Given the description of an element on the screen output the (x, y) to click on. 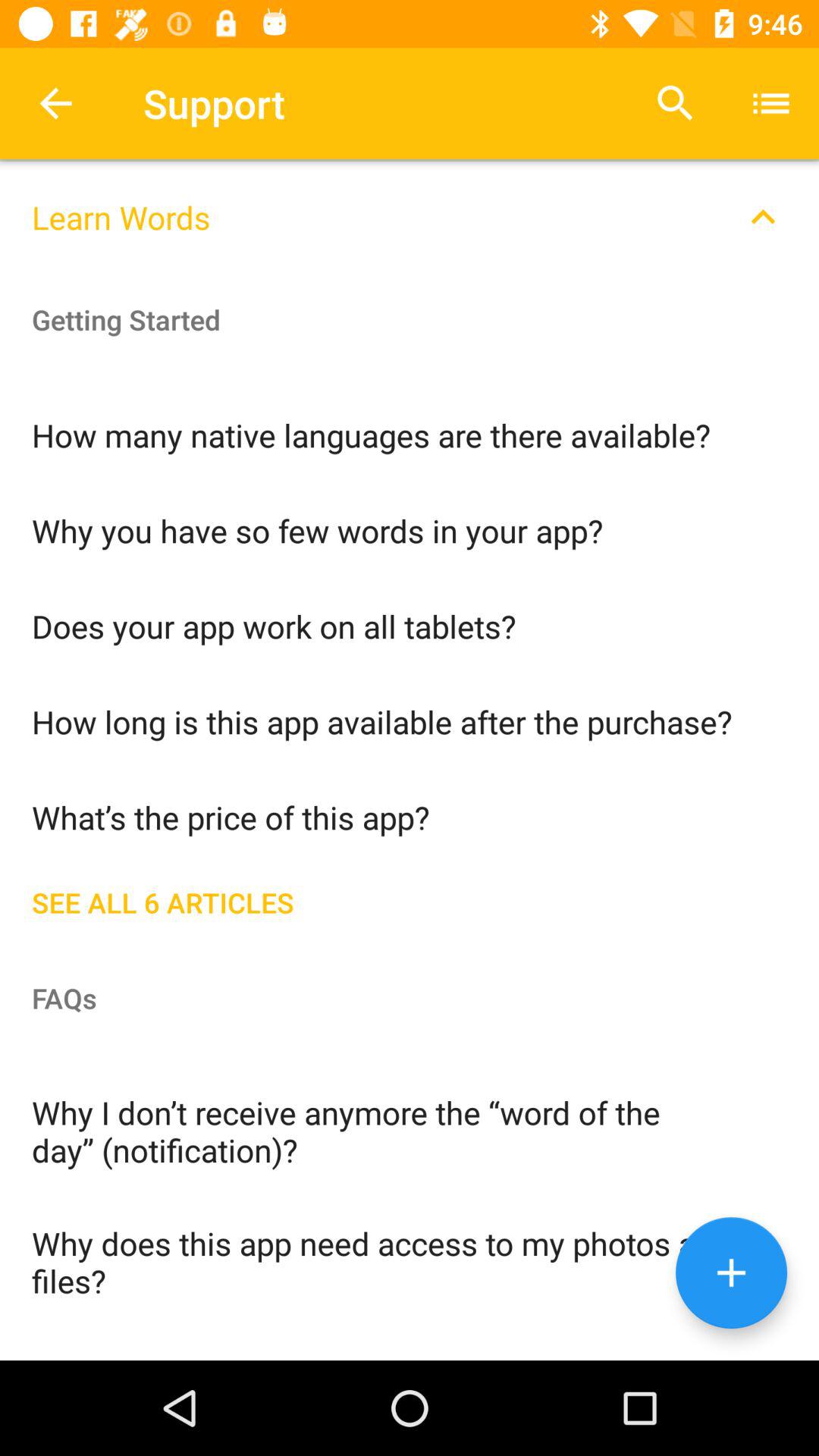
tap the item above what s the (409, 720)
